Given the description of an element on the screen output the (x, y) to click on. 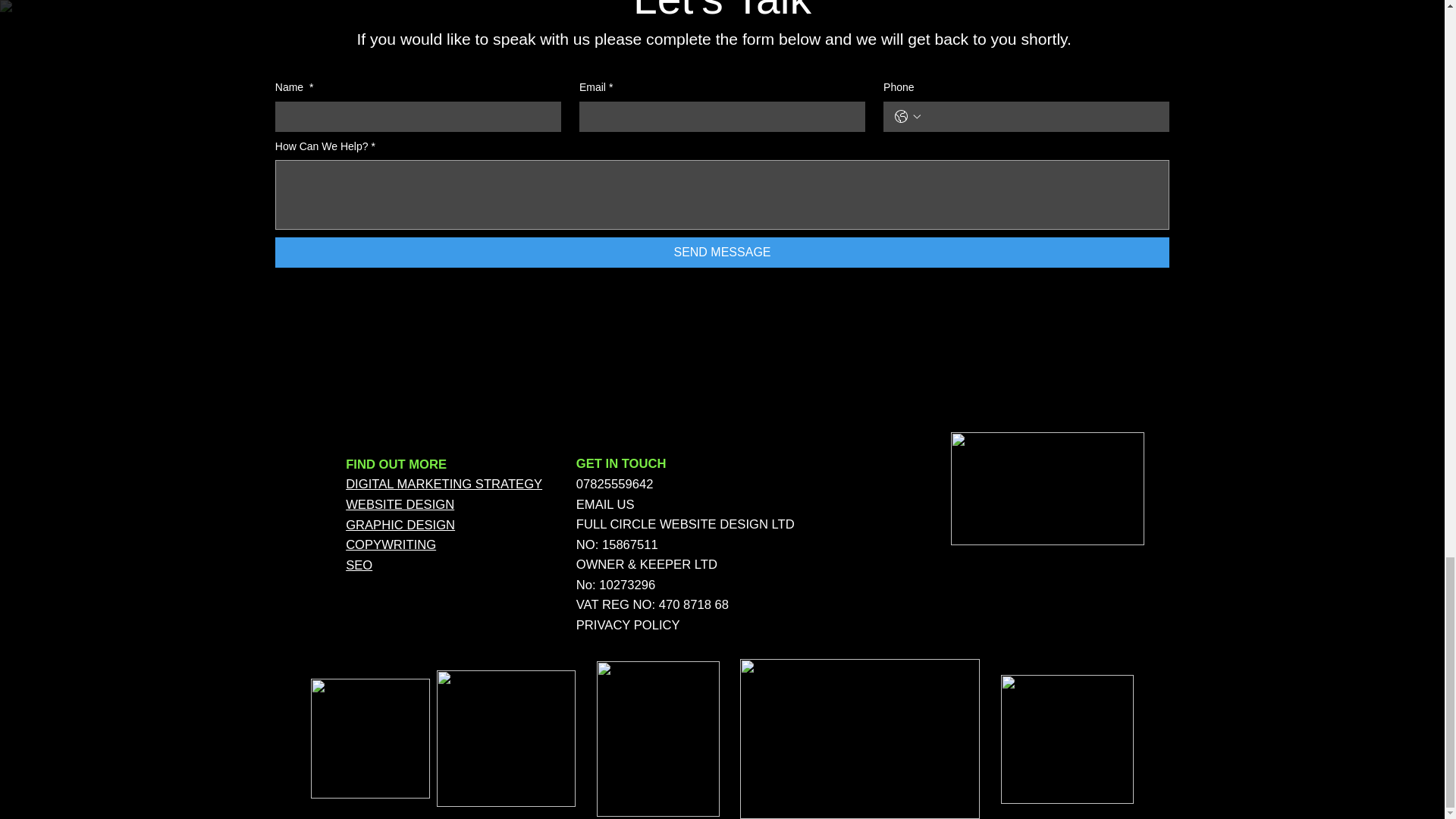
COPYWRITING (390, 544)
SEND MESSAGE (722, 252)
SEO (359, 564)
EMAIL US (605, 504)
DIGITAL MARKETING STRATEGY (443, 483)
GRAPHIC DESIGN (400, 524)
WEBSITE DESIGN (400, 504)
07825559642 (614, 483)
FULL CIRCLE WEBSITE DESIGN LTD NO: 15867511 (685, 534)
